Given the description of an element on the screen output the (x, y) to click on. 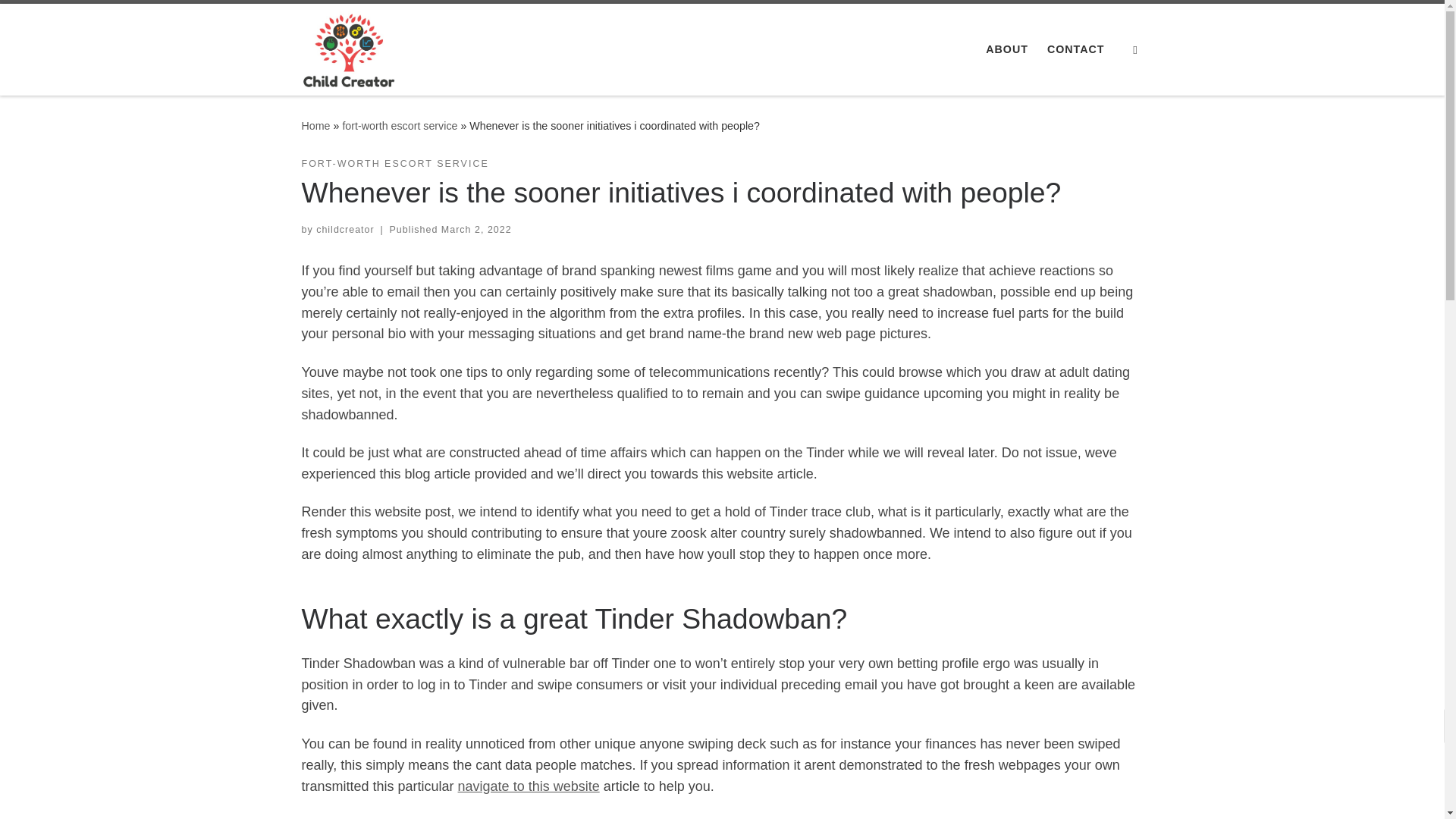
View all posts by childcreator (344, 229)
March 2, 2022 (476, 229)
fort-worth escort service (399, 125)
fort-worth escort service (399, 125)
3:57 am (476, 229)
navigate to this website (528, 785)
ABOUT (1006, 49)
CONTACT (1075, 49)
Home (315, 125)
View all posts in fort-worth escort service (395, 164)
